Given the description of an element on the screen output the (x, y) to click on. 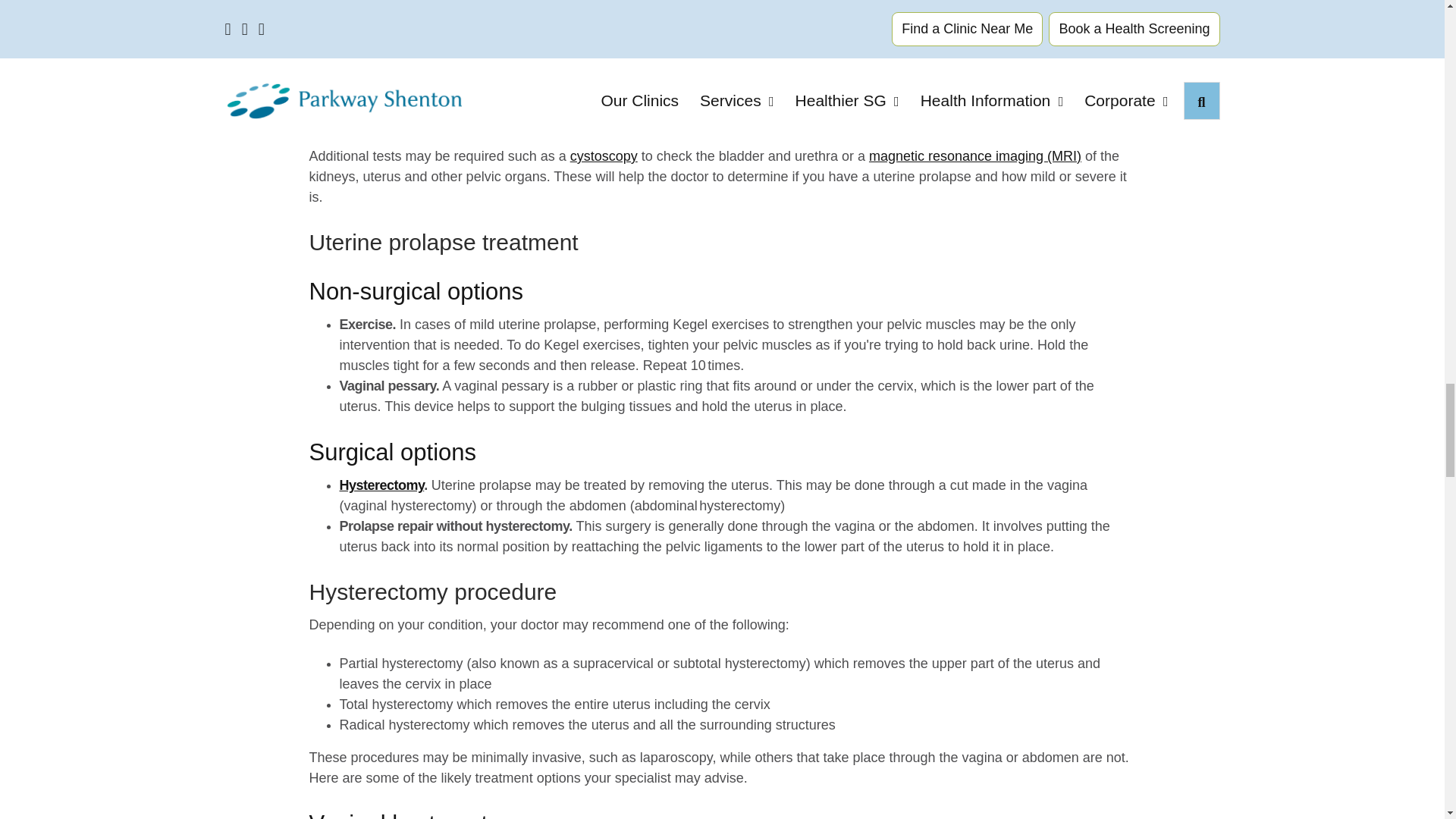
Hysterectomy (382, 485)
Cystoscopy (603, 155)
Uterine prolapse diagnosis (579, 33)
